Given the description of an element on the screen output the (x, y) to click on. 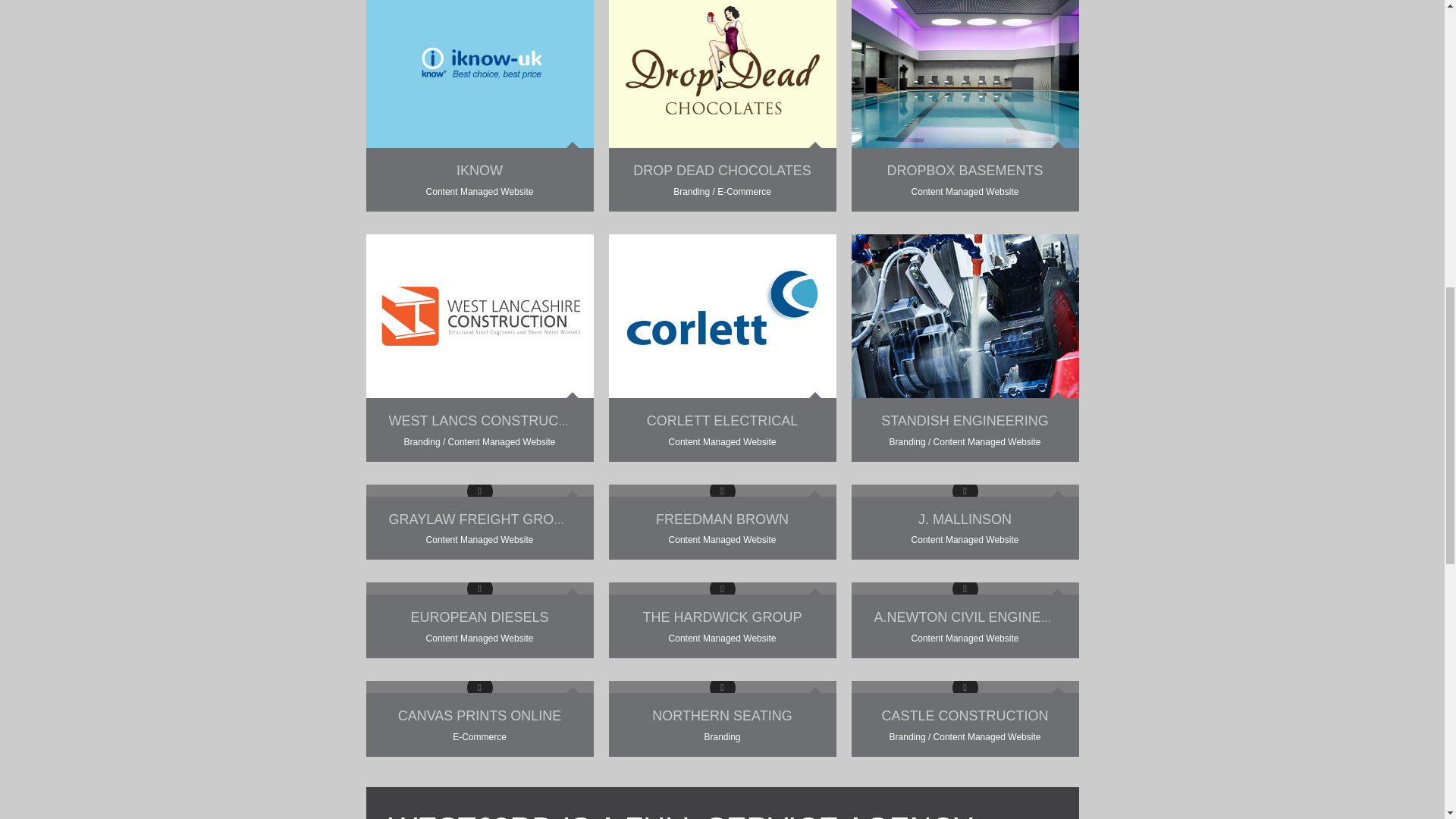
GRAYLAW FREIGHT GROUP (480, 519)
IKNOW (479, 170)
DROP DEAD CHOCOLATES (721, 170)
EUROPEAN DIESELS (479, 616)
STANDISH ENGINEERING (964, 420)
FREEDMAN BROWN (722, 519)
WEST LANCS CONSTRUCTION (489, 420)
J. MALLINSON (964, 519)
DROPBOX BASEMENTS (964, 170)
CORLETT ELECTRICAL (721, 420)
